Given the description of an element on the screen output the (x, y) to click on. 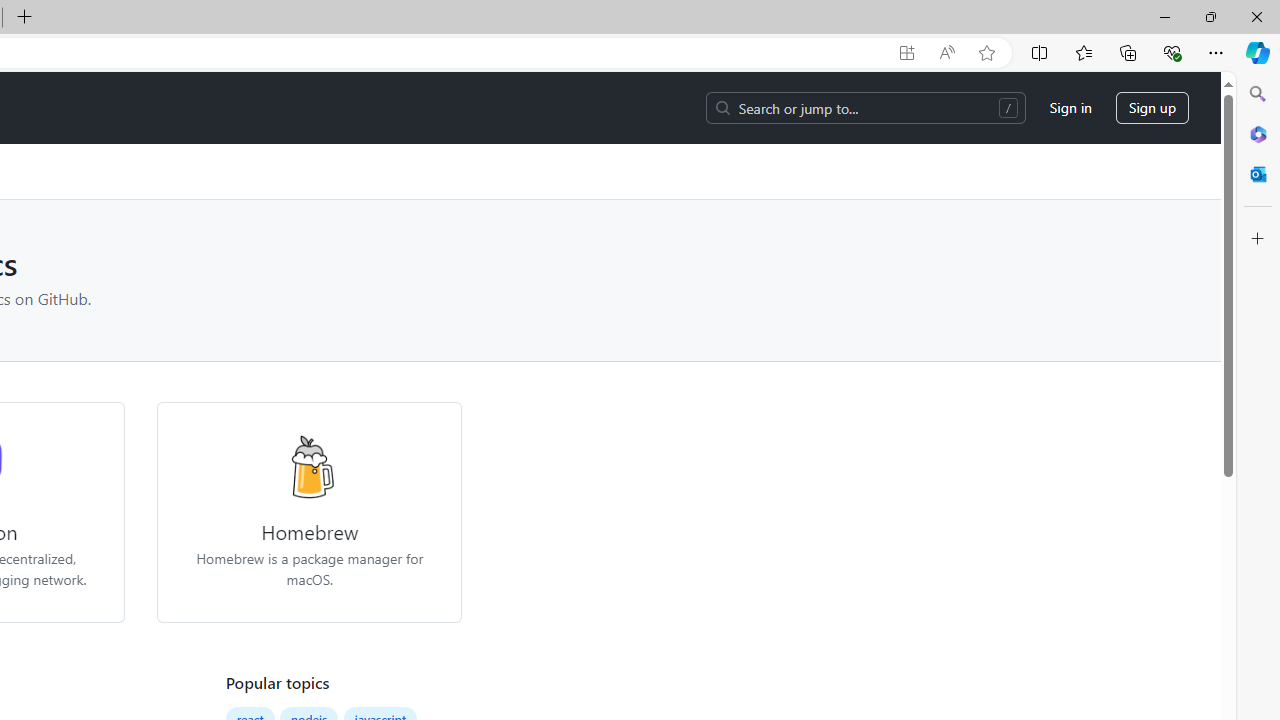
homebrew Homebrew Homebrew is a package manager for macOS. (309, 511)
HomebrewHomebrew is a package manager for macOS. (309, 511)
App available. Install GitHub (906, 53)
